Given the description of an element on the screen output the (x, y) to click on. 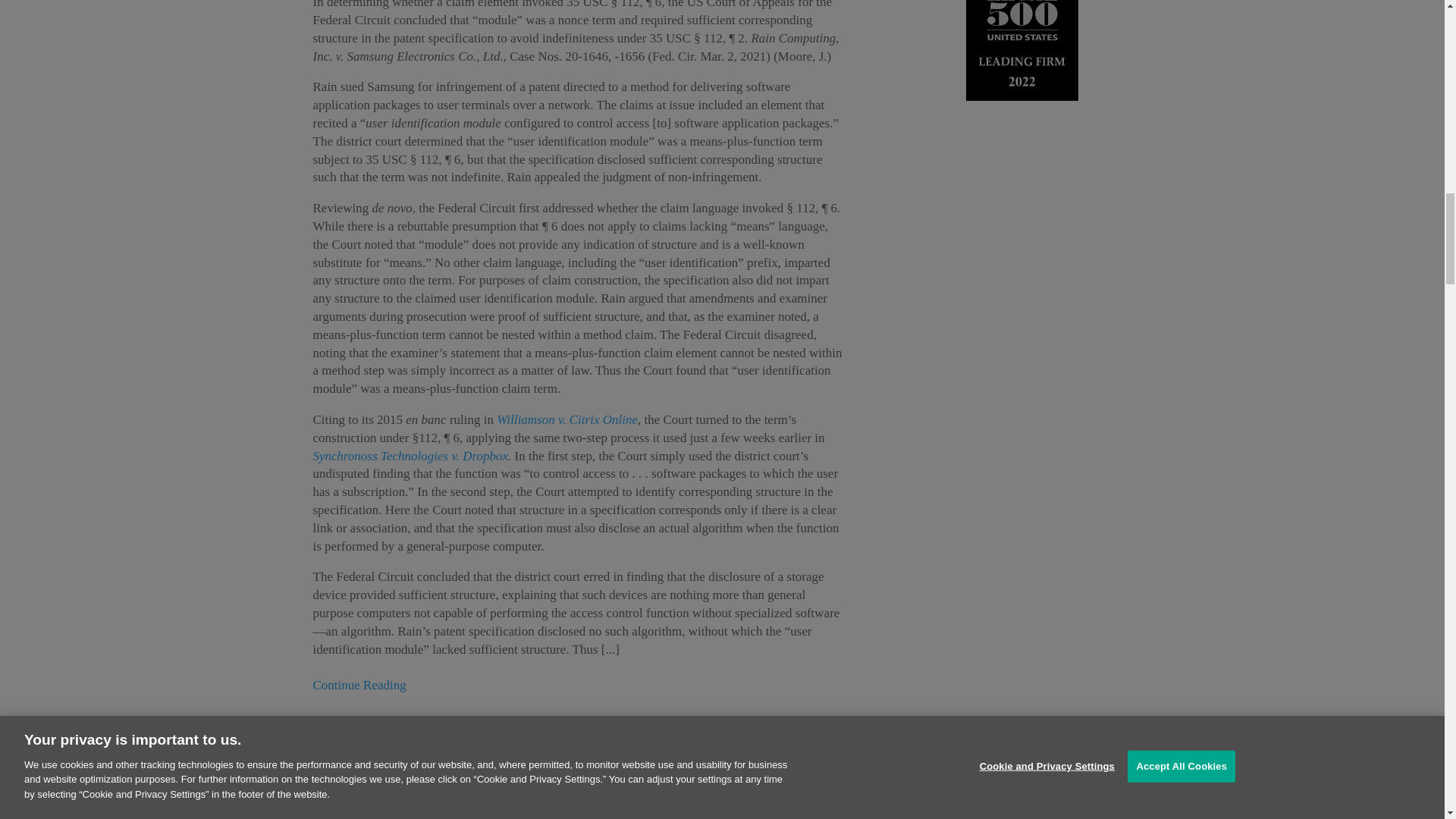
Print (324, 743)
E-Mail (354, 743)
Share on X (384, 743)
